Given the description of an element on the screen output the (x, y) to click on. 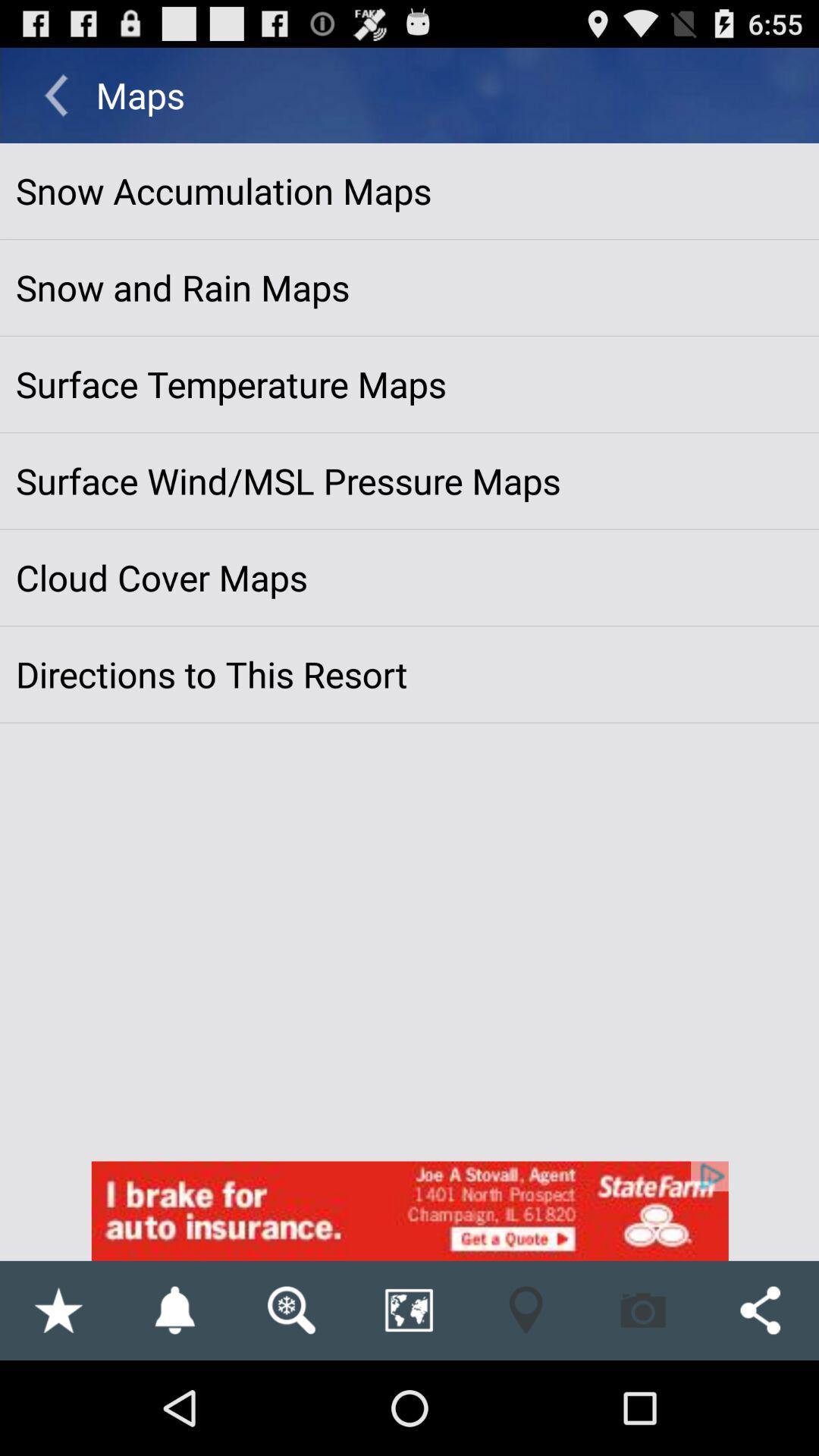
important item (58, 1310)
